Given the description of an element on the screen output the (x, y) to click on. 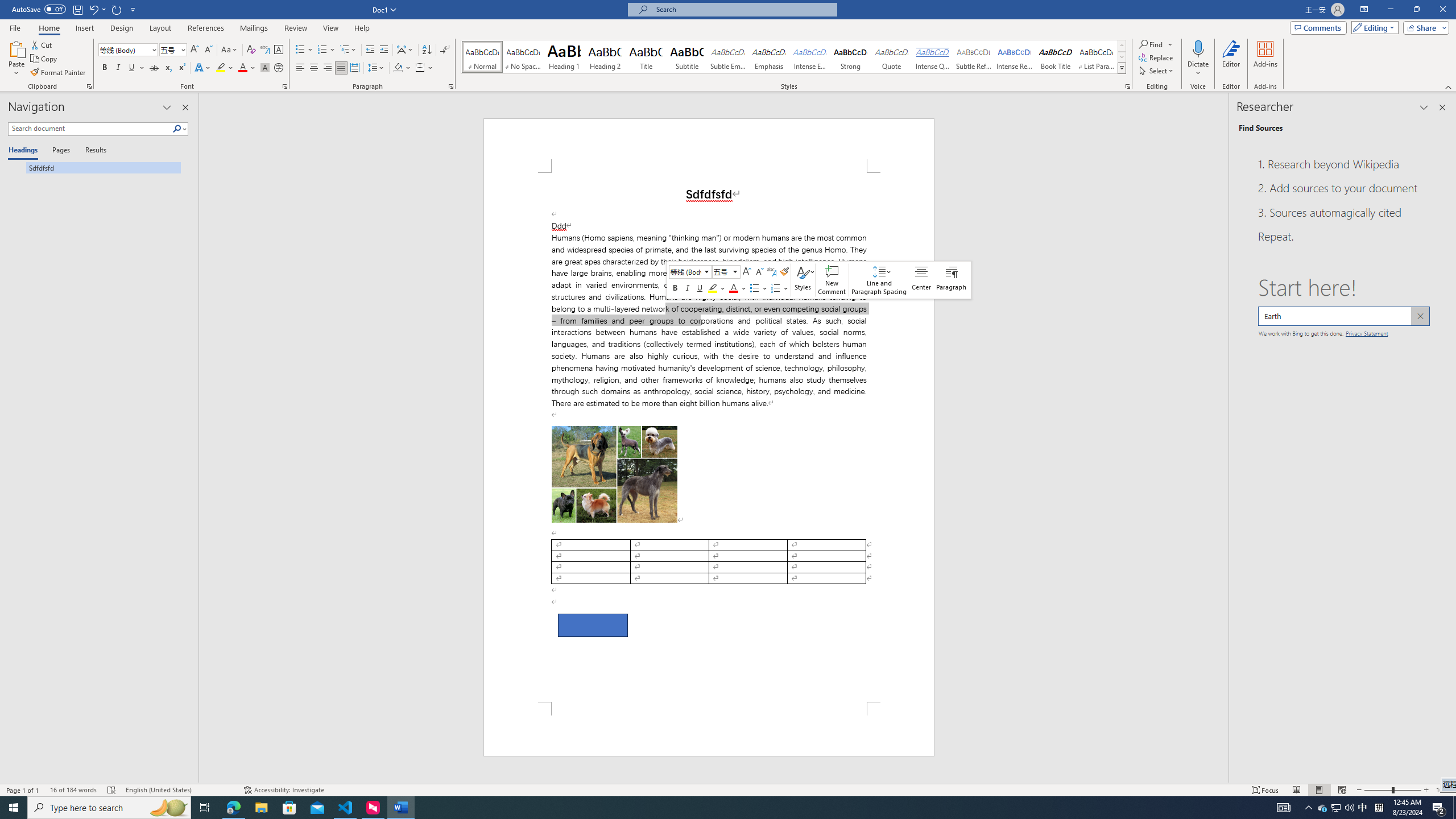
New Comment (831, 279)
Sdfdfsfd (94, 167)
Class: NetUIComboboxAnchor (726, 271)
Cancel (1419, 316)
